Given the description of an element on the screen output the (x, y) to click on. 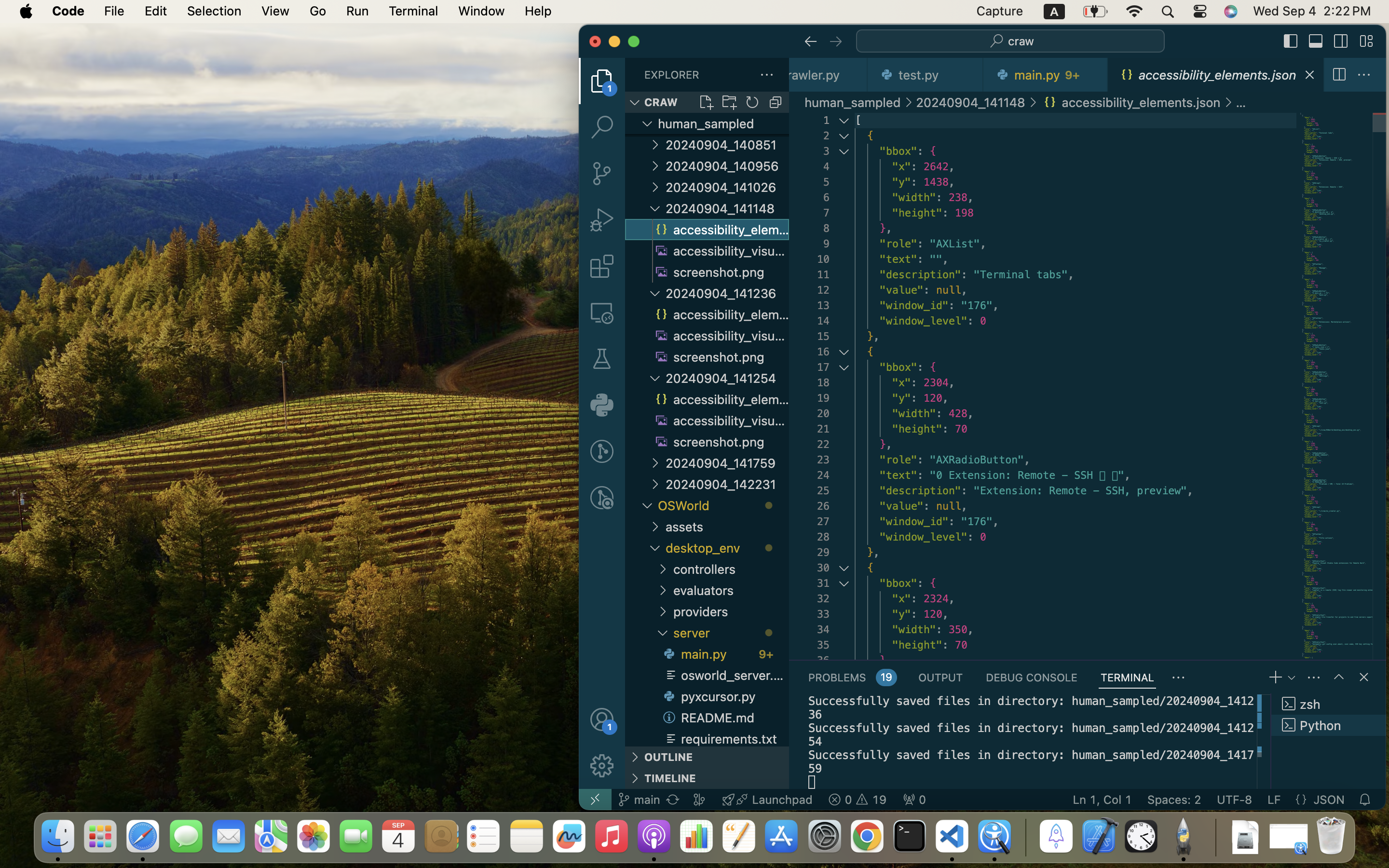
0 test.py   Element type: AXRadioButton (925, 74)
0 os_crawler.py  Element type: AXRadioButton (828, 74)
zsh  Element type: AXGroup (1328, 703)
 Element type: AXGroup (601, 219)
0  Element type: AXRadioButton (601, 451)
